Given the description of an element on the screen output the (x, y) to click on. 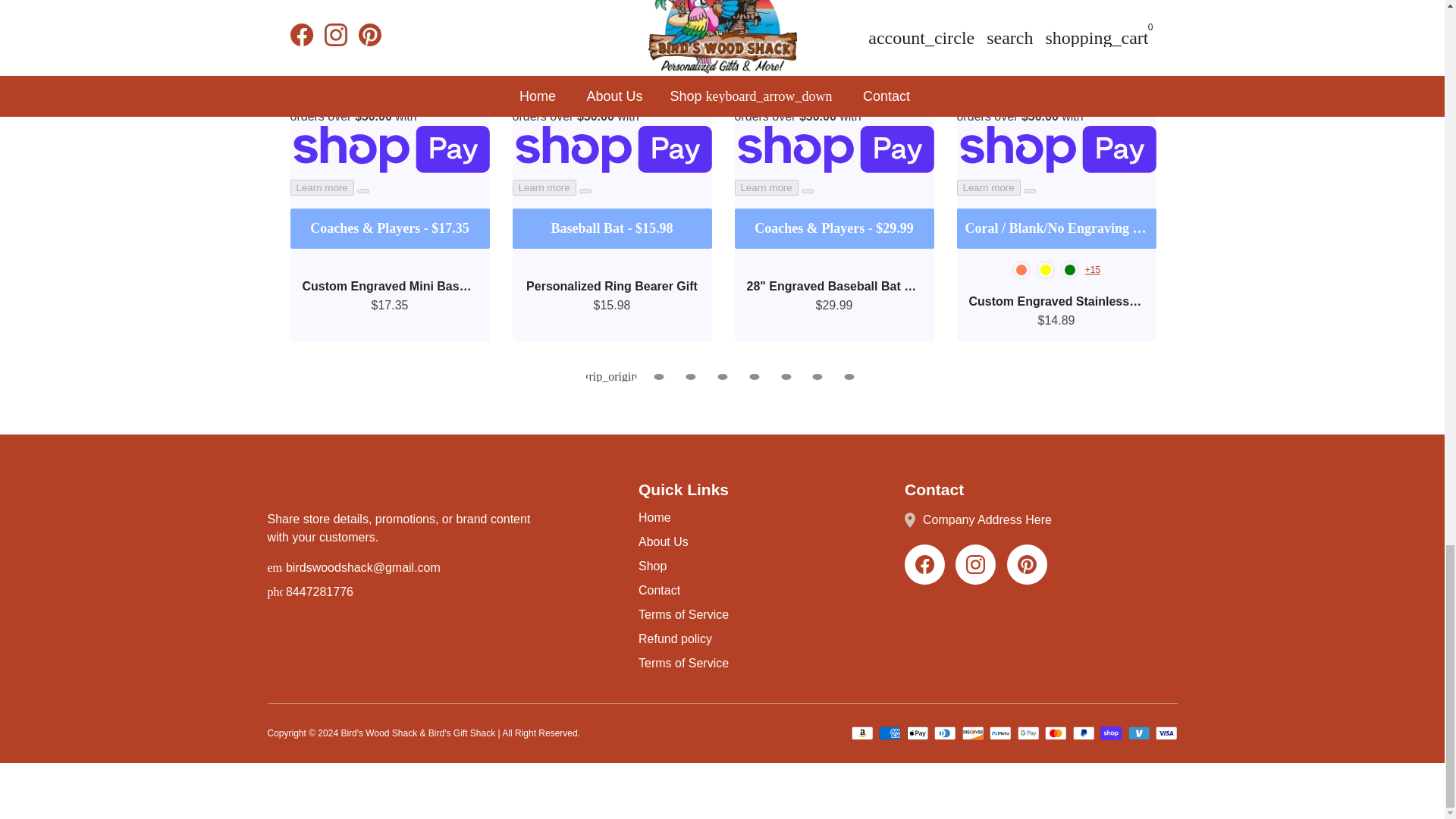
American Express (889, 733)
Mastercard (1056, 733)
Amazon (861, 733)
Meta Pay (1000, 733)
Discover (971, 733)
Google Pay (1028, 733)
Diners Club (945, 733)
Apple Pay (917, 733)
